Given the description of an element on the screen output the (x, y) to click on. 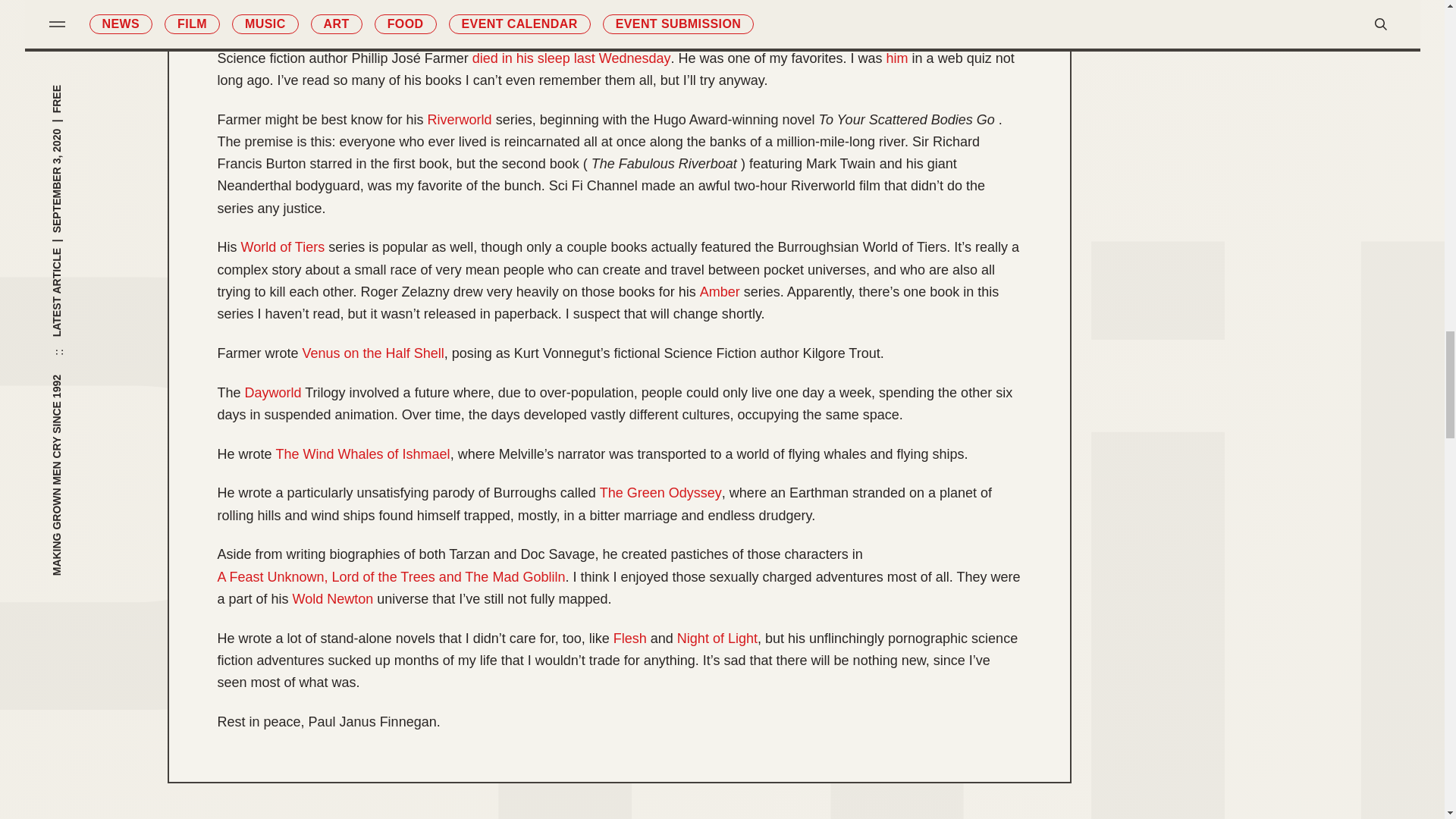
Flesh (629, 639)
Amber (719, 292)
Night of Light (717, 639)
A Feast Unknown, Lord of the Trees and The Mad Gobliln (390, 577)
The Green Odyssey (660, 493)
The Wind Whales of Ishmael (362, 454)
Riverworld (460, 119)
him (897, 58)
World of Tiers (282, 247)
Wold Newton (333, 599)
Dayworld (272, 393)
Venus on the Half Shell (373, 353)
died in his sleep last Wednesday (571, 58)
